Given the description of an element on the screen output the (x, y) to click on. 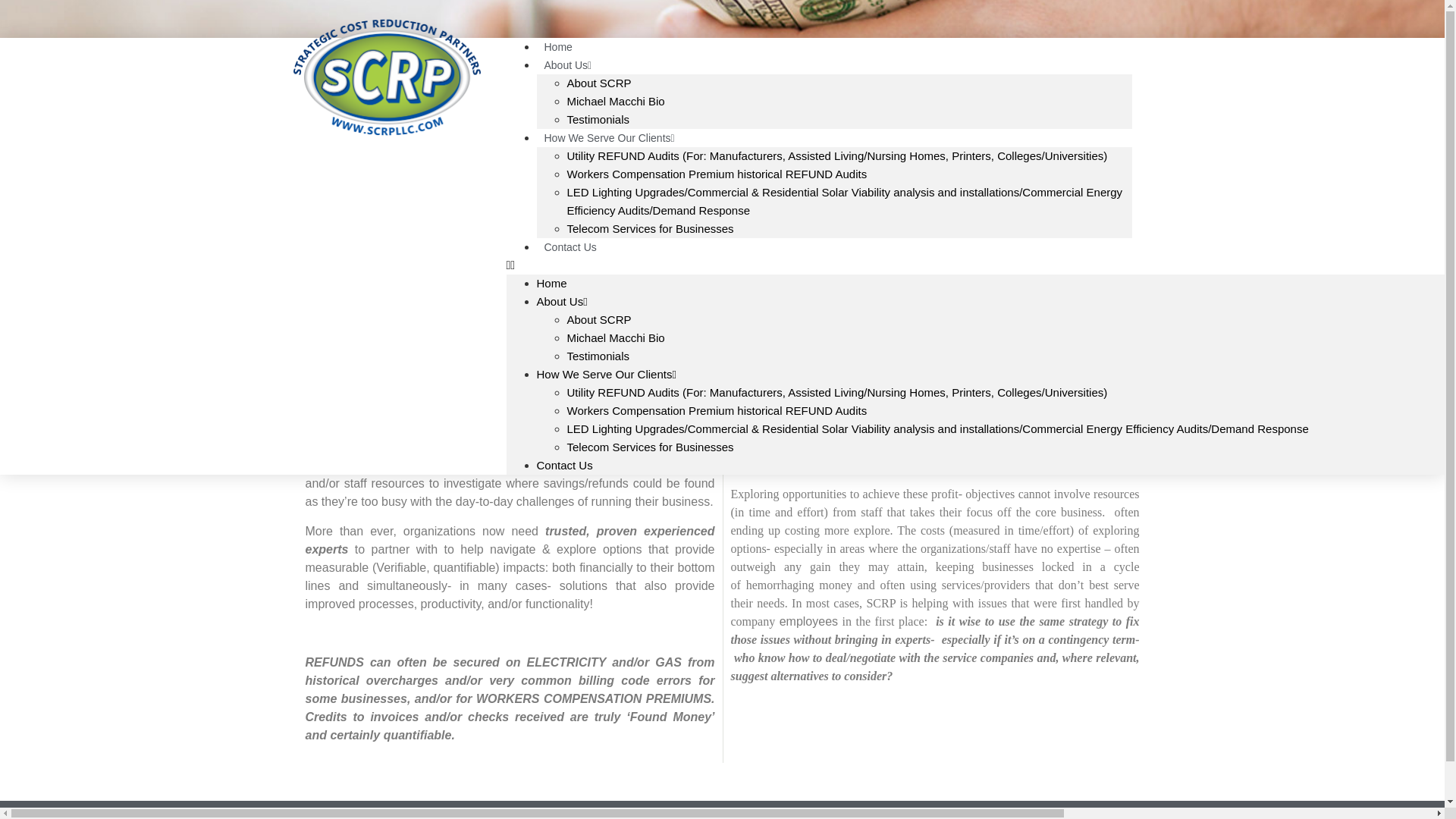
Contact Us (564, 464)
Testimonials (598, 119)
About Us (568, 64)
Workers Compensation Premium historical REFUND Audits (717, 410)
About SCRP (599, 318)
Home (552, 282)
Michael Macchi Bio (616, 101)
CT Web Design (1024, 818)
Testimonials (598, 355)
Telecom Services for Businesses (650, 228)
Michael Macchi Bio (616, 337)
How We Serve Our Clients (609, 137)
Contact Us (570, 247)
Telecom Services for Businesses (650, 446)
Workers Compensation Premium historical REFUND Audits (717, 173)
